Given the description of an element on the screen output the (x, y) to click on. 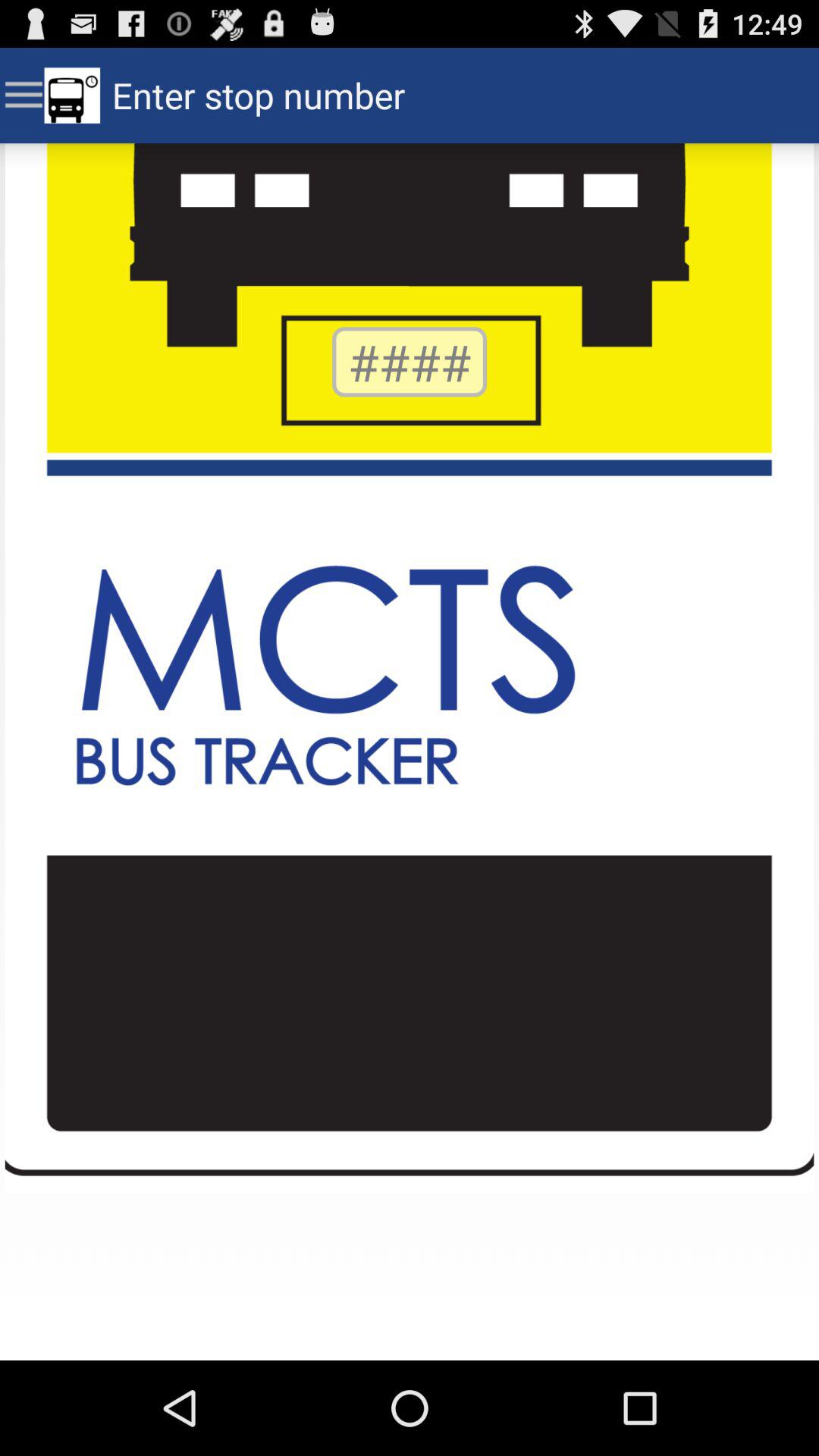
enter number (409, 361)
